Given the description of an element on the screen output the (x, y) to click on. 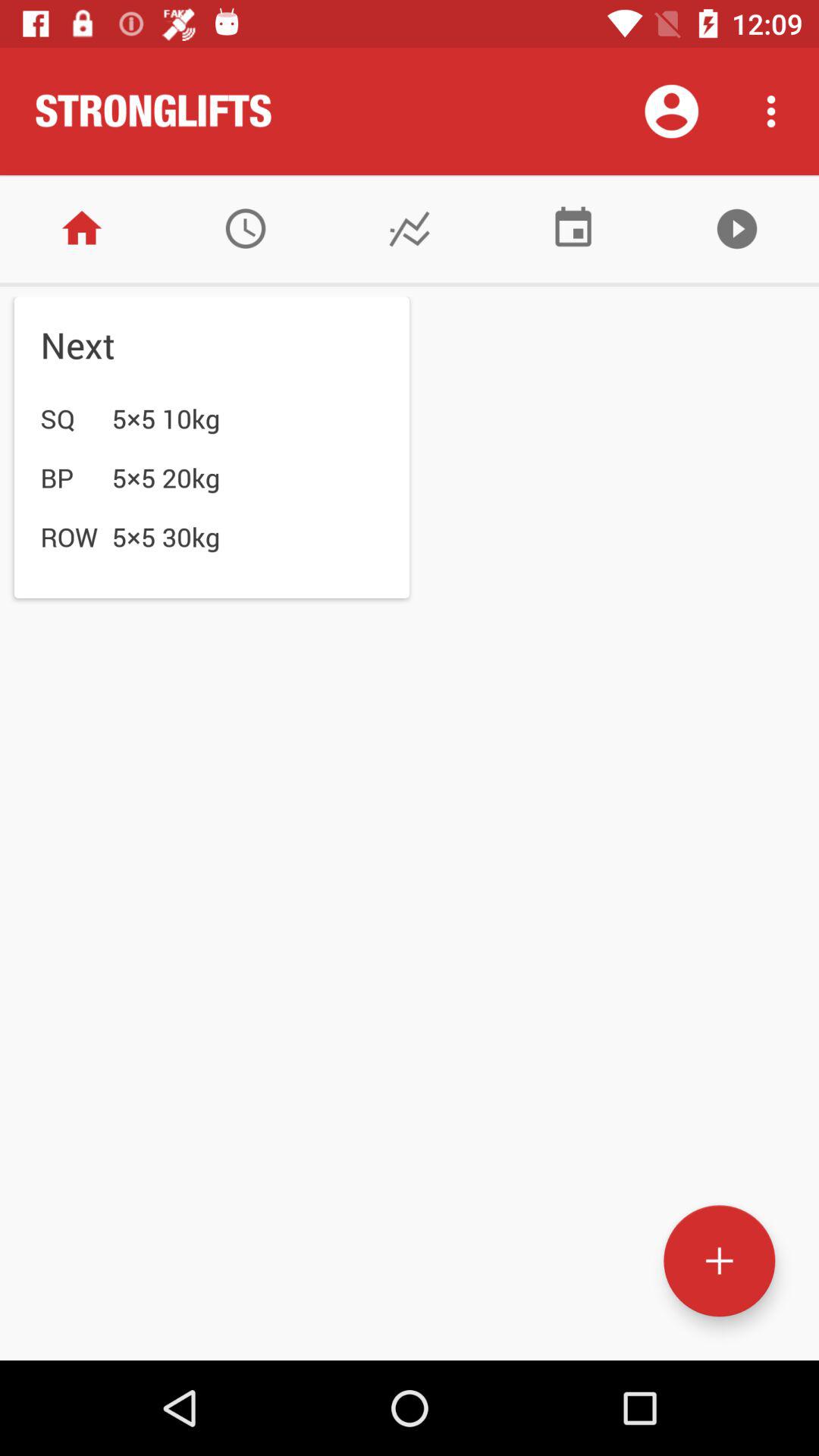
time button (245, 228)
